Given the description of an element on the screen output the (x, y) to click on. 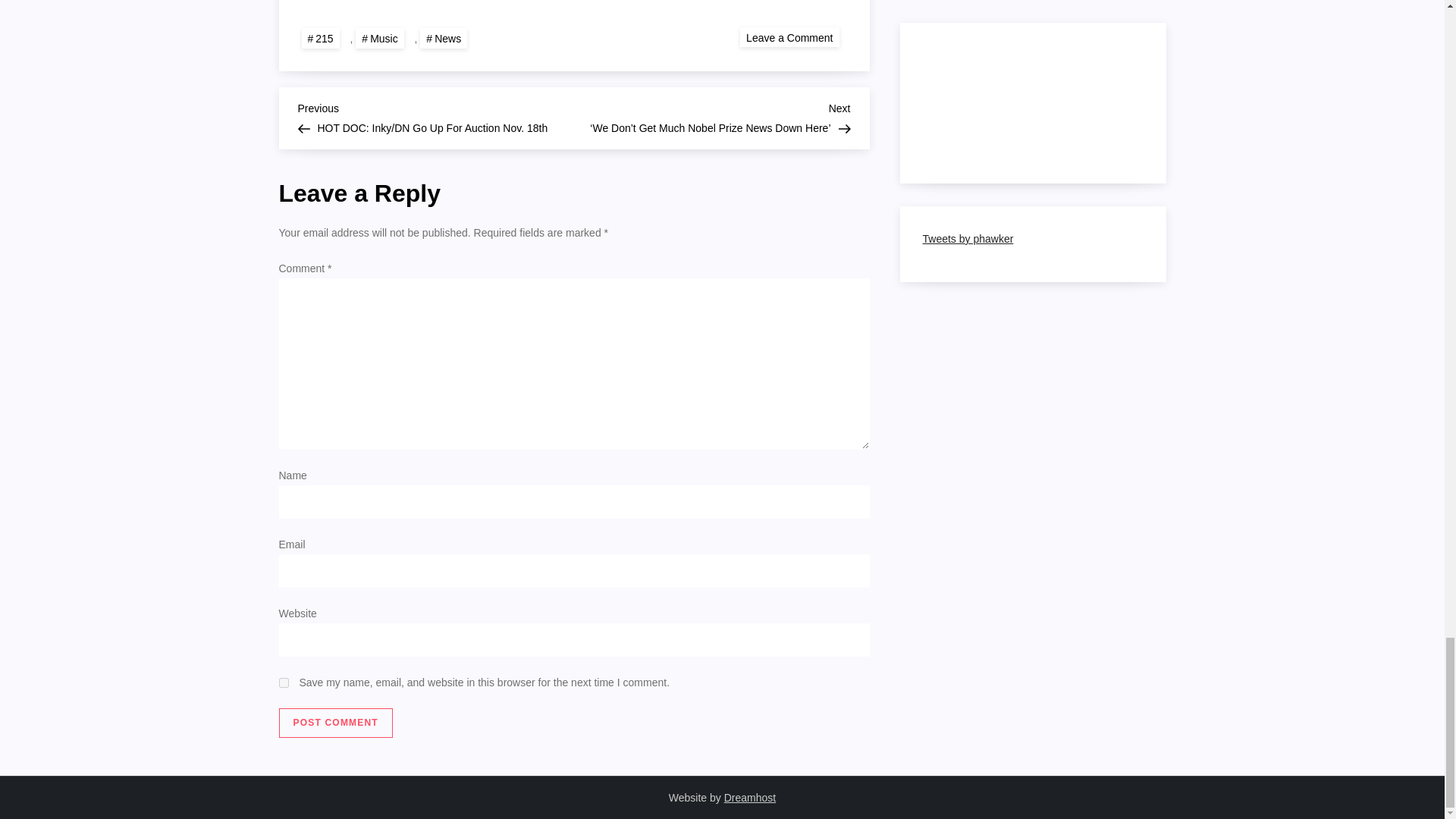
Post Comment (336, 723)
